Given the description of an element on the screen output the (x, y) to click on. 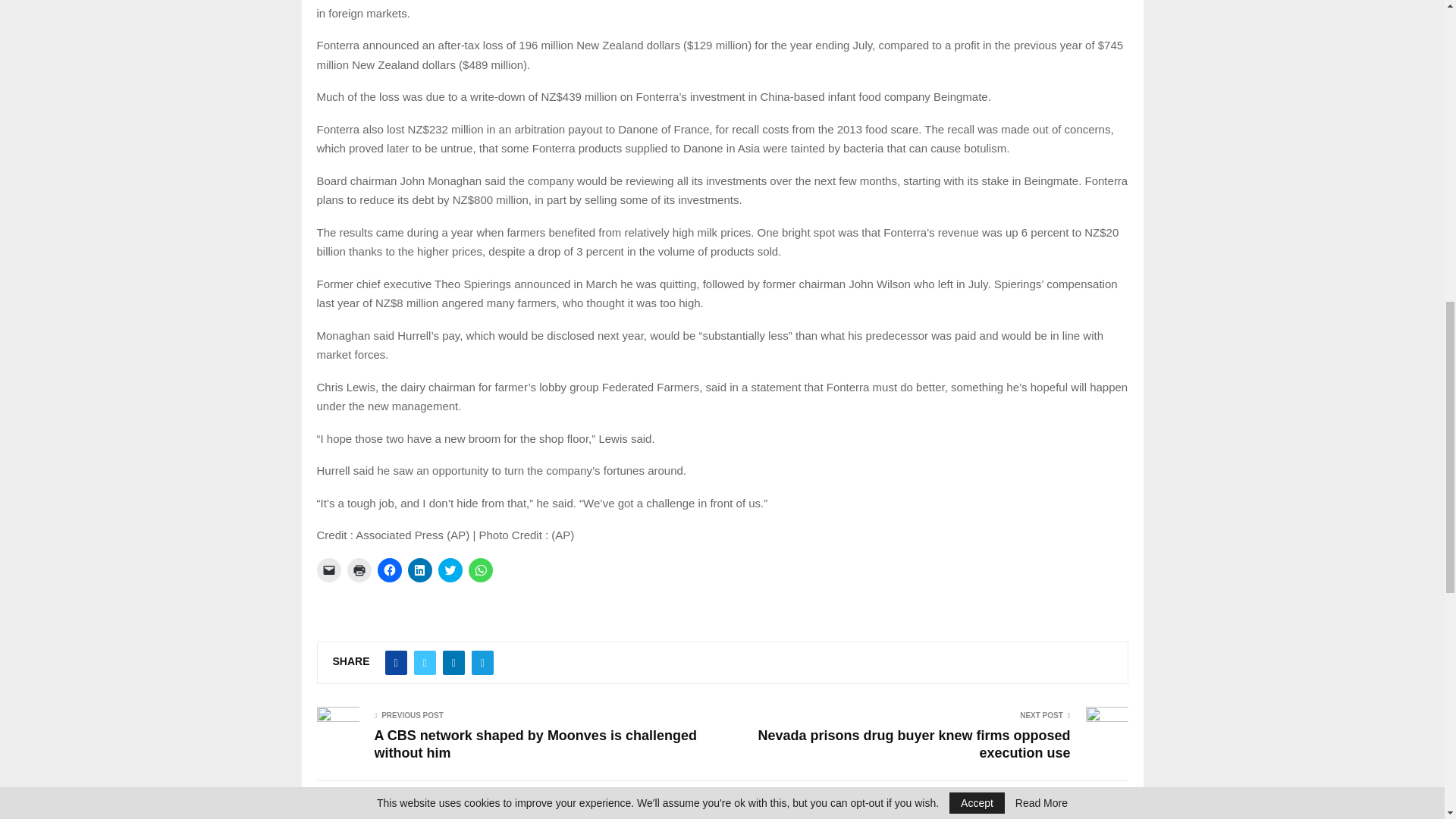
Click to share on LinkedIn (419, 569)
Click to share on Facebook (389, 569)
Click to email a link to a friend (328, 569)
Click to print (359, 569)
